Given the description of an element on the screen output the (x, y) to click on. 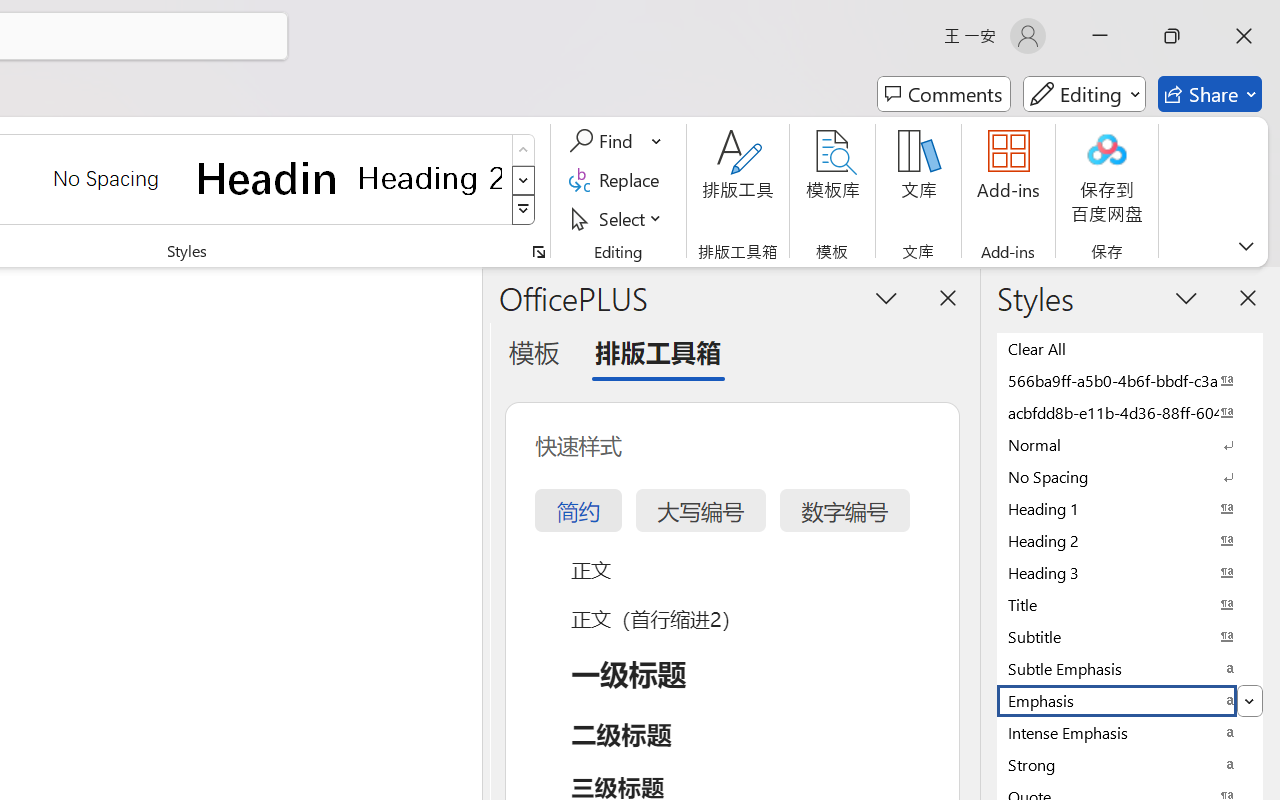
Strong (1130, 764)
Find (616, 141)
Styles... (538, 252)
Heading 1 (267, 178)
Row up (523, 150)
Class: NetUIImage (523, 210)
Subtle Emphasis (1130, 668)
Find (604, 141)
Styles (523, 209)
Restore Down (1172, 36)
Clear All (1130, 348)
